Given the description of an element on the screen output the (x, y) to click on. 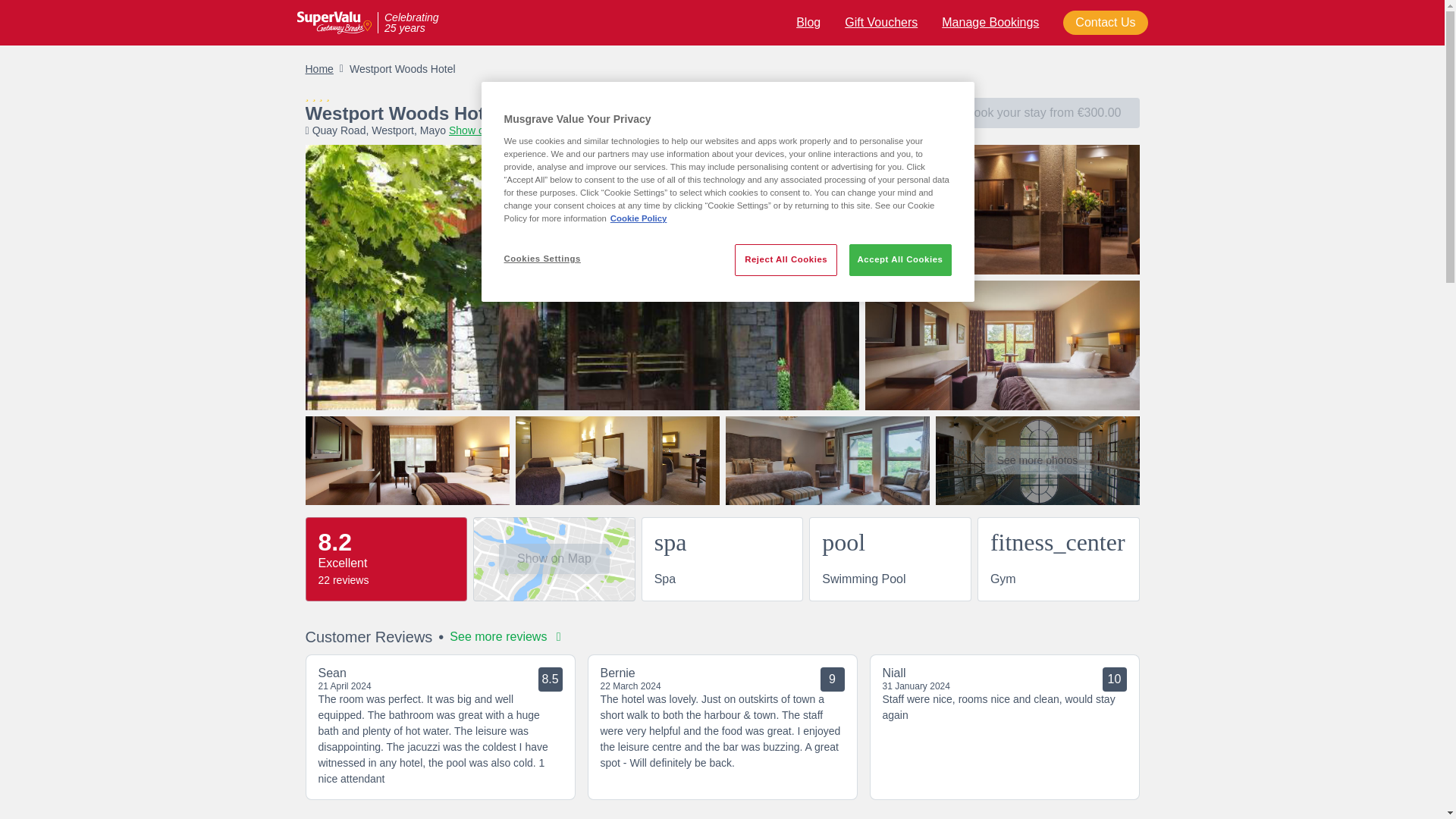
Blog (808, 21)
Show on Map (480, 130)
See more reviews (504, 637)
Home (318, 68)
Show on Map (554, 558)
Contact Us (1104, 22)
Manage Bookings (990, 21)
Gift Vouchers (880, 21)
See more photos (1037, 460)
